Given the description of an element on the screen output the (x, y) to click on. 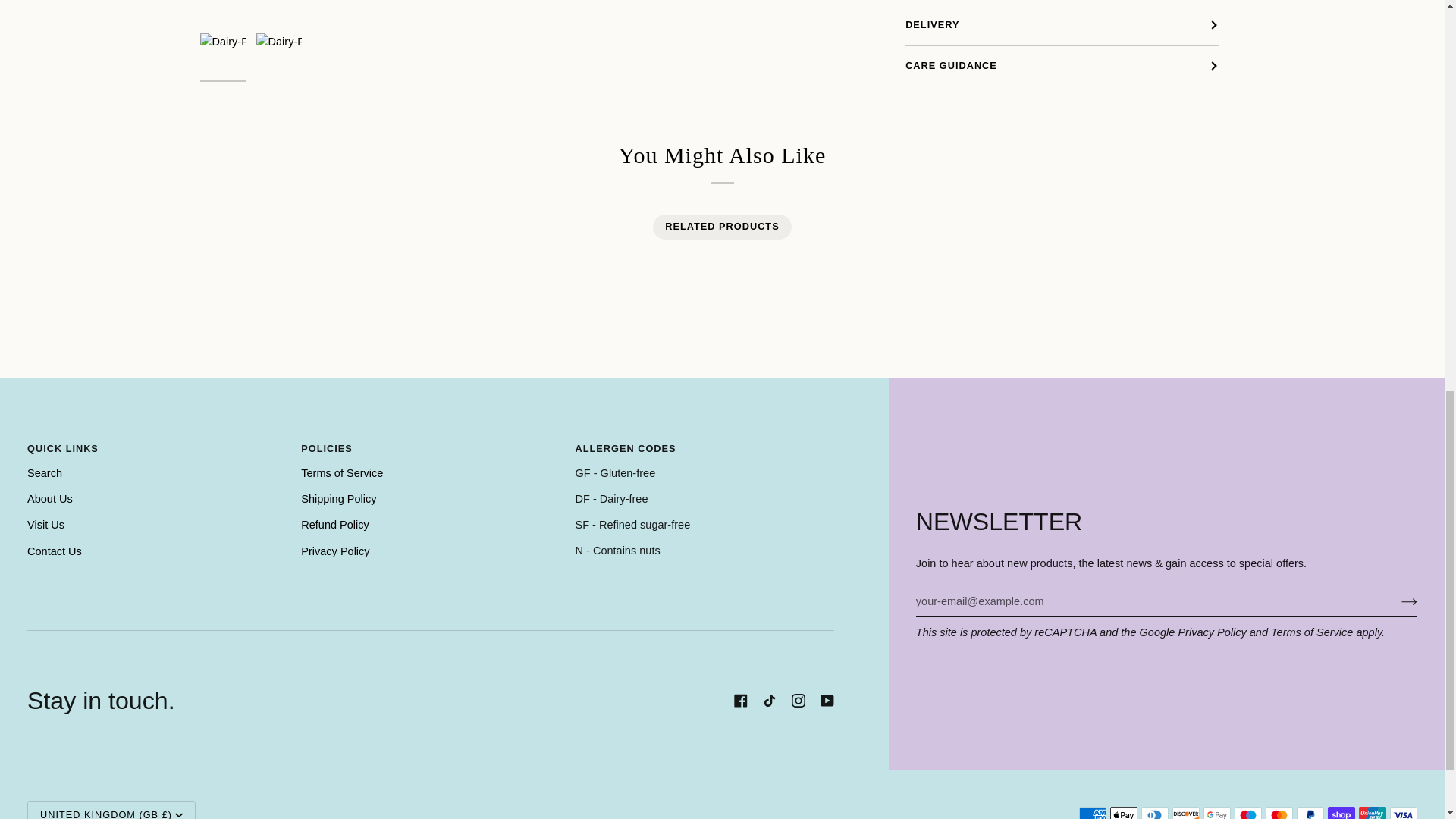
AMERICAN EXPRESS (1092, 812)
SHOP PAY (1341, 812)
APPLE PAY (1123, 812)
MASTERCARD (1278, 812)
DINERS CLUB (1155, 812)
Instagram (798, 700)
Facebook (740, 700)
VISA (1403, 812)
UNION PAY (1372, 812)
MAESTRO (1248, 812)
